Given the description of an element on the screen output the (x, y) to click on. 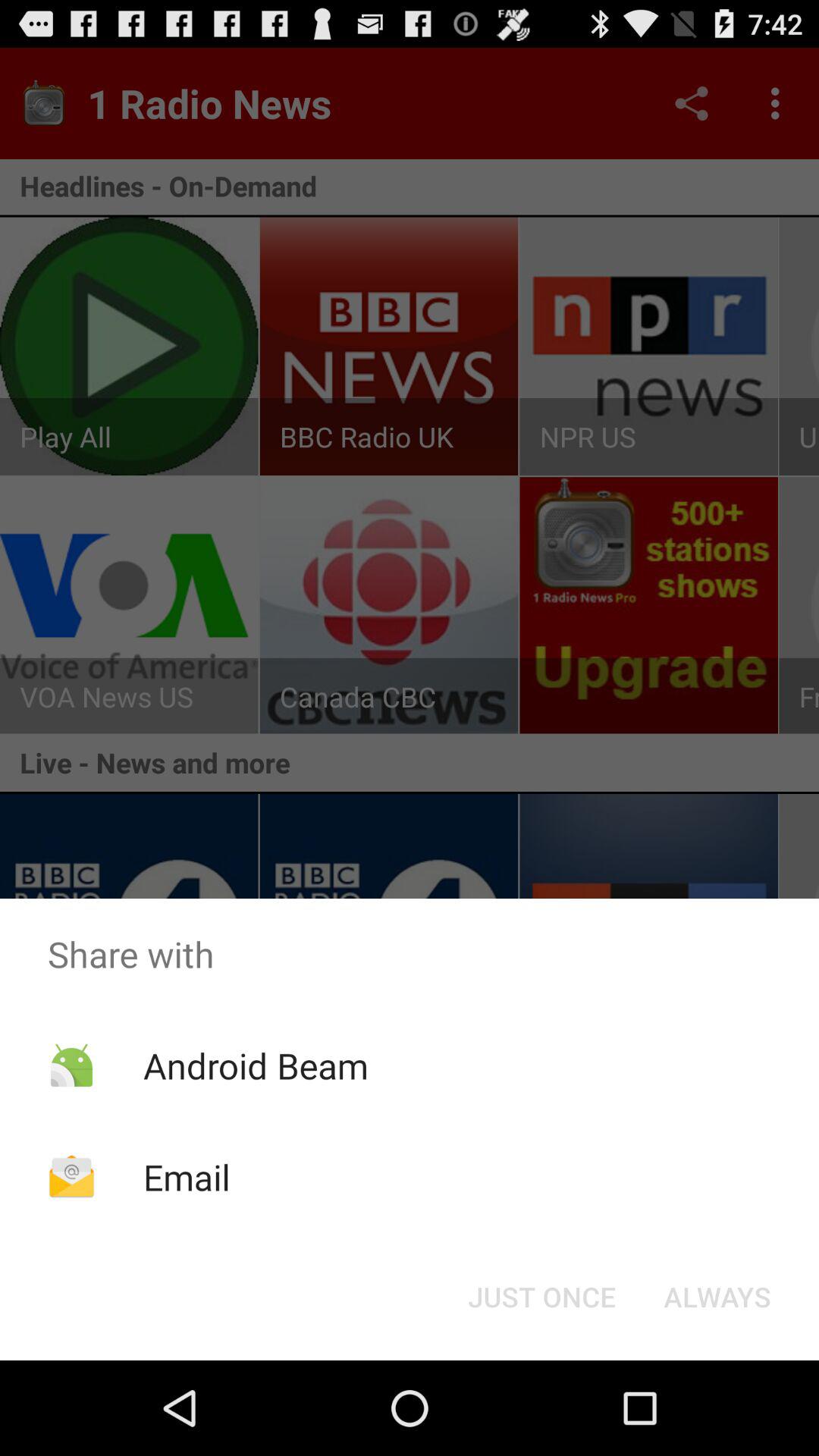
scroll until android beam item (255, 1065)
